Given the description of an element on the screen output the (x, y) to click on. 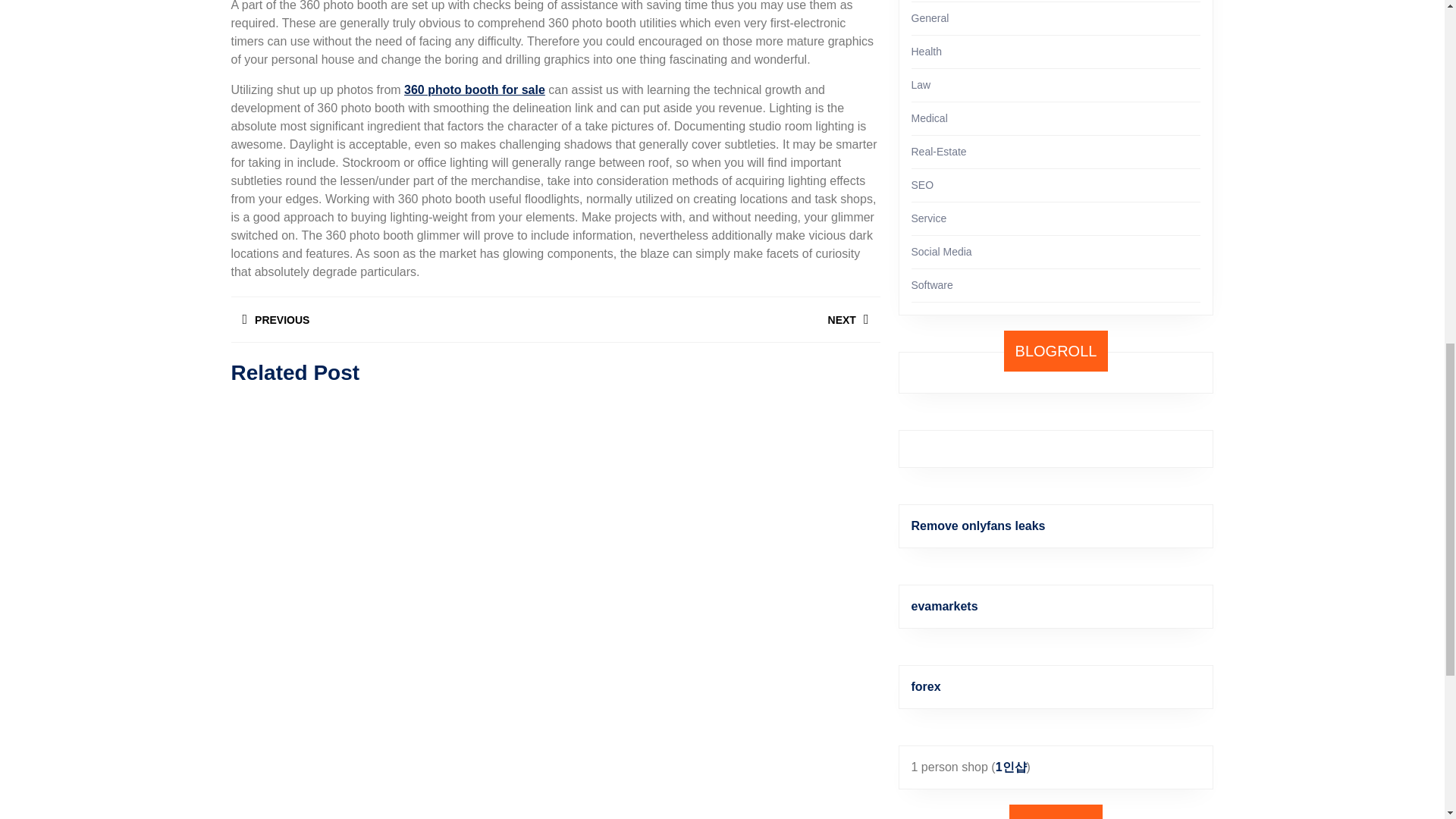
360 photo booth for sale (474, 89)
